Given the description of an element on the screen output the (x, y) to click on. 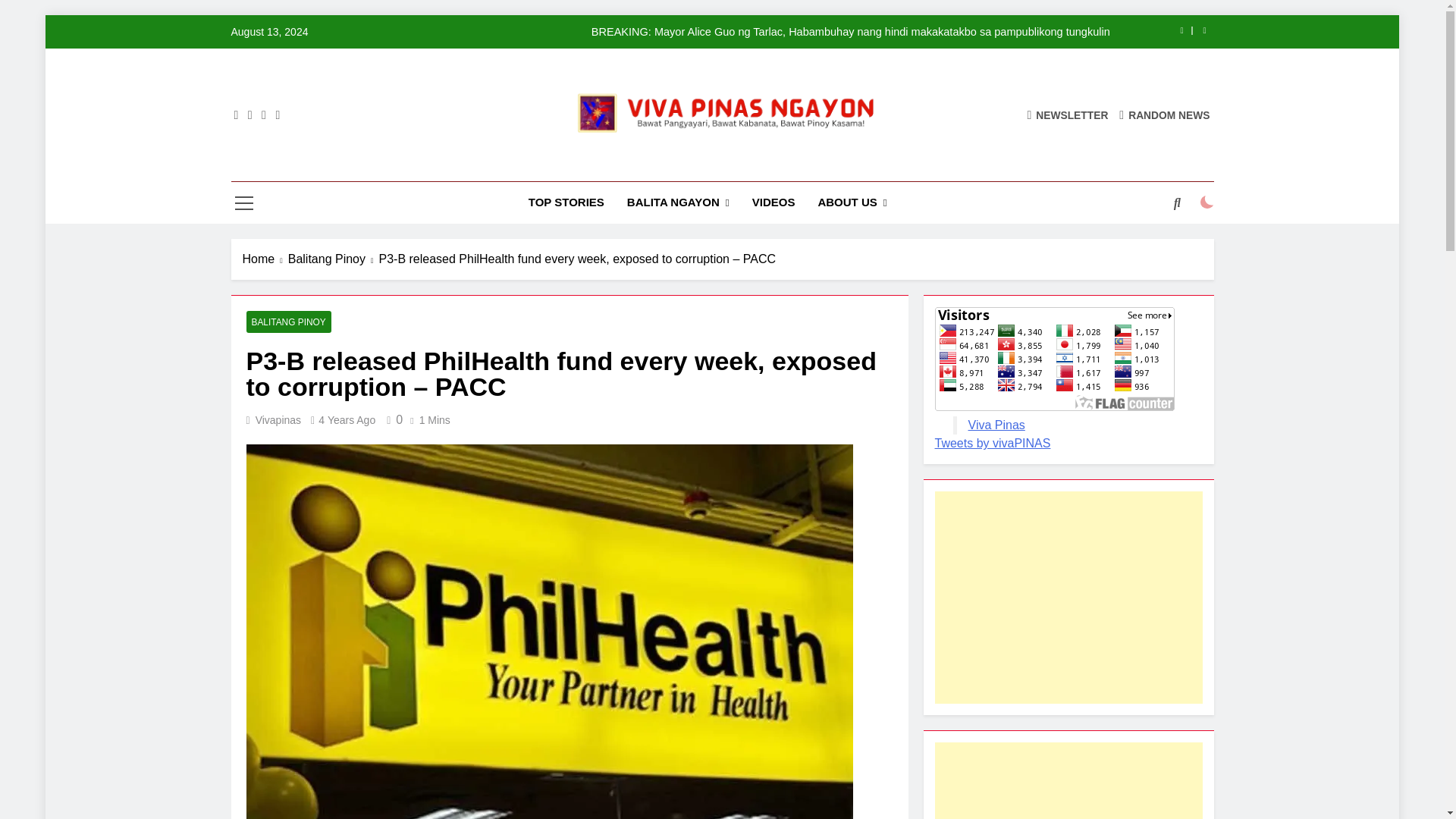
Balitang Pinoy (333, 259)
ABOUT US (852, 202)
TOP STORIES (565, 201)
Viva Pinas (558, 167)
Home (265, 259)
on (1206, 202)
NEWSLETTER (1067, 114)
VIDEOS (773, 201)
